Given the description of an element on the screen output the (x, y) to click on. 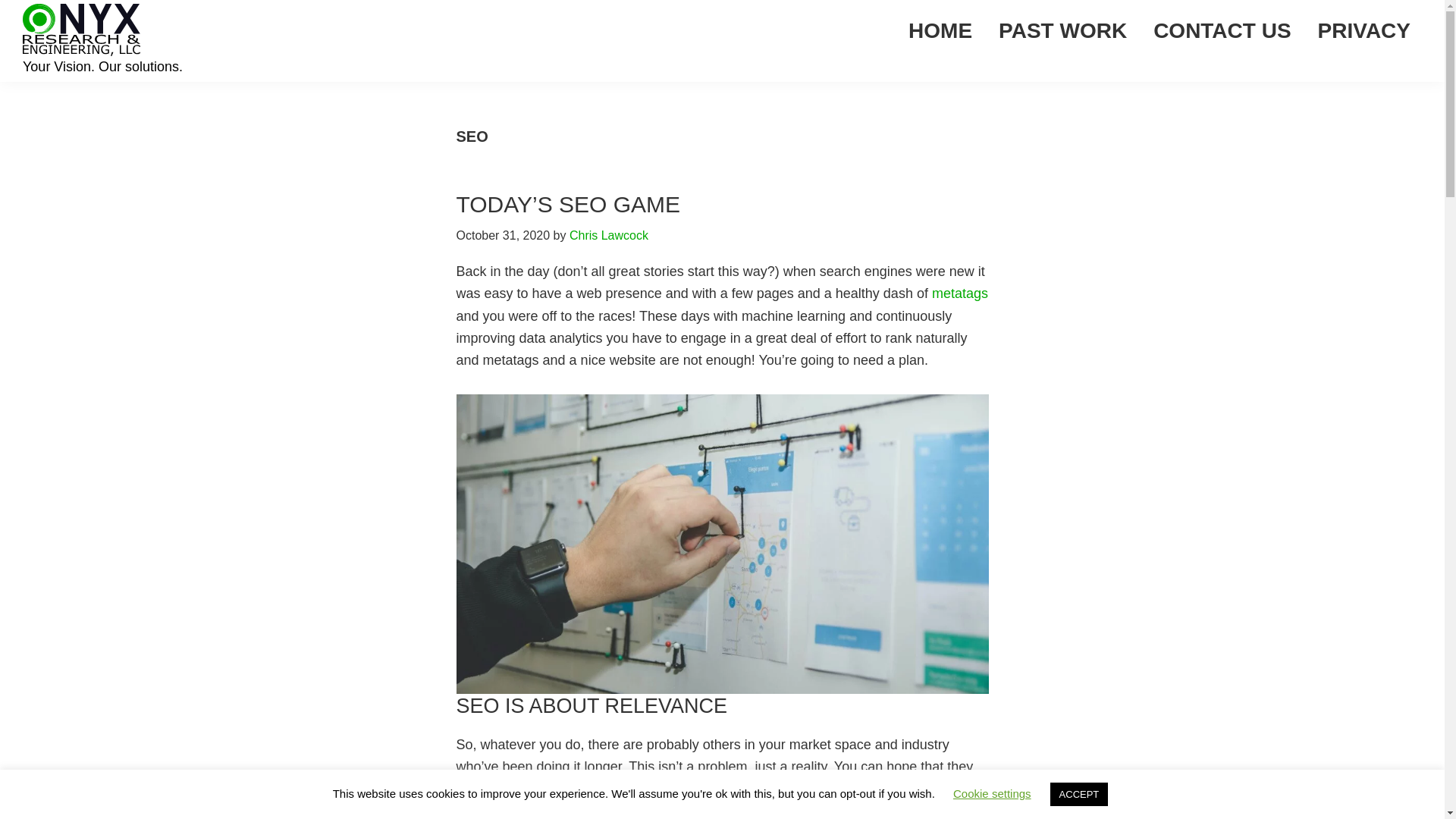
HOME (940, 30)
metatags (959, 293)
PAST WORK (1062, 30)
CONTACT US (1221, 30)
PRIVACY (1364, 30)
Cookie settings (991, 793)
ACCEPT (1078, 793)
Pool Supplies (860, 810)
Chris Lawcock (608, 235)
